Given the description of an element on the screen output the (x, y) to click on. 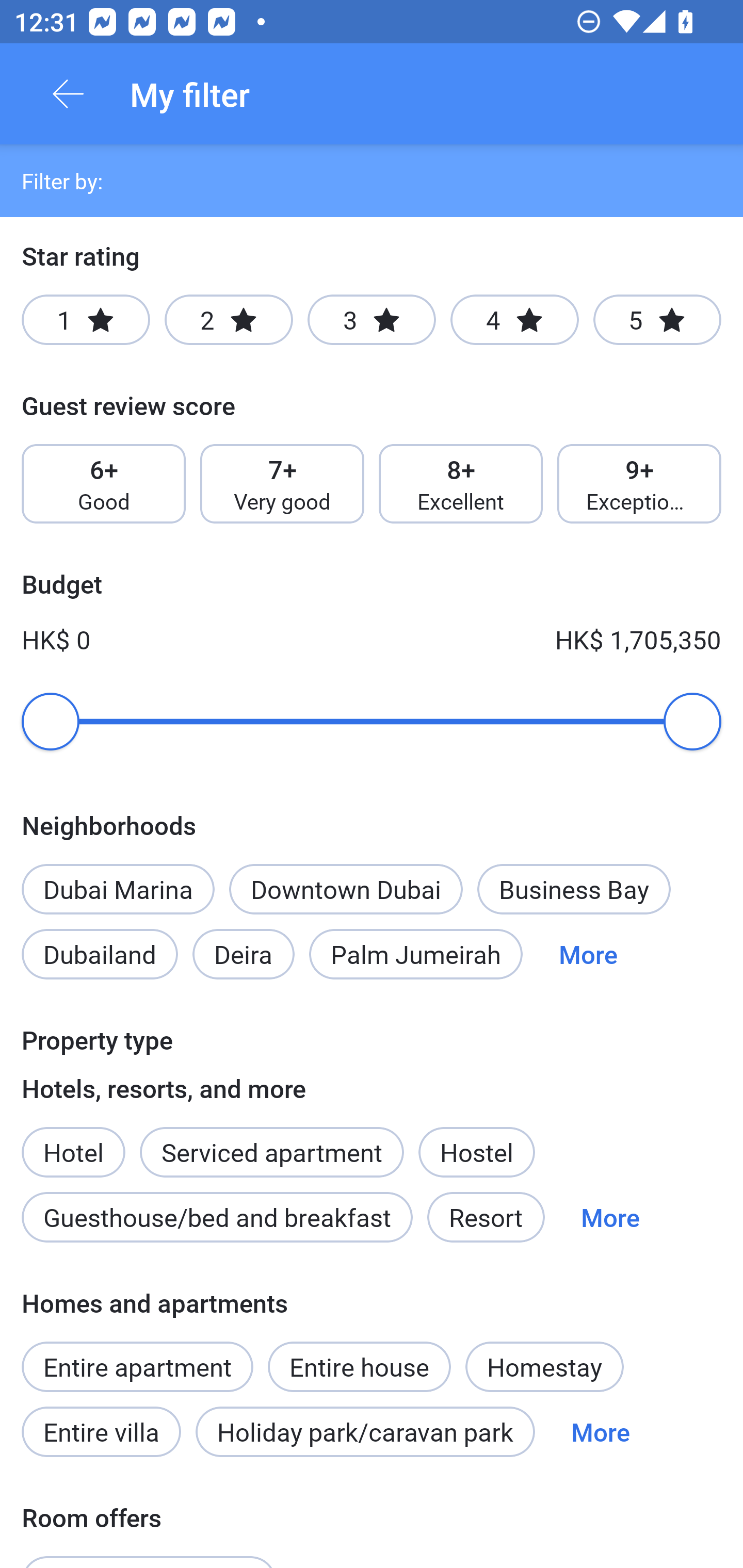
1 (85, 319)
2 (228, 319)
3 (371, 319)
4 (514, 319)
5 (657, 319)
6+ Good (103, 483)
7+ Very good (281, 483)
8+ Excellent (460, 483)
9+ Exceptional (639, 483)
Dubai Marina (117, 888)
Downtown Dubai (345, 888)
Business Bay (573, 888)
Dubailand (99, 954)
Deira (243, 954)
Palm Jumeirah (415, 954)
More (587, 954)
Hotel (73, 1141)
Serviced apartment (271, 1141)
Hostel (476, 1151)
Guesthouse/bed and breakfast (217, 1217)
Resort (485, 1217)
More (610, 1217)
Entire apartment (137, 1366)
Entire house (359, 1356)
Homestay (544, 1366)
Entire villa (101, 1432)
Holiday park/caravan park (364, 1432)
More (600, 1432)
